Given the description of an element on the screen output the (x, y) to click on. 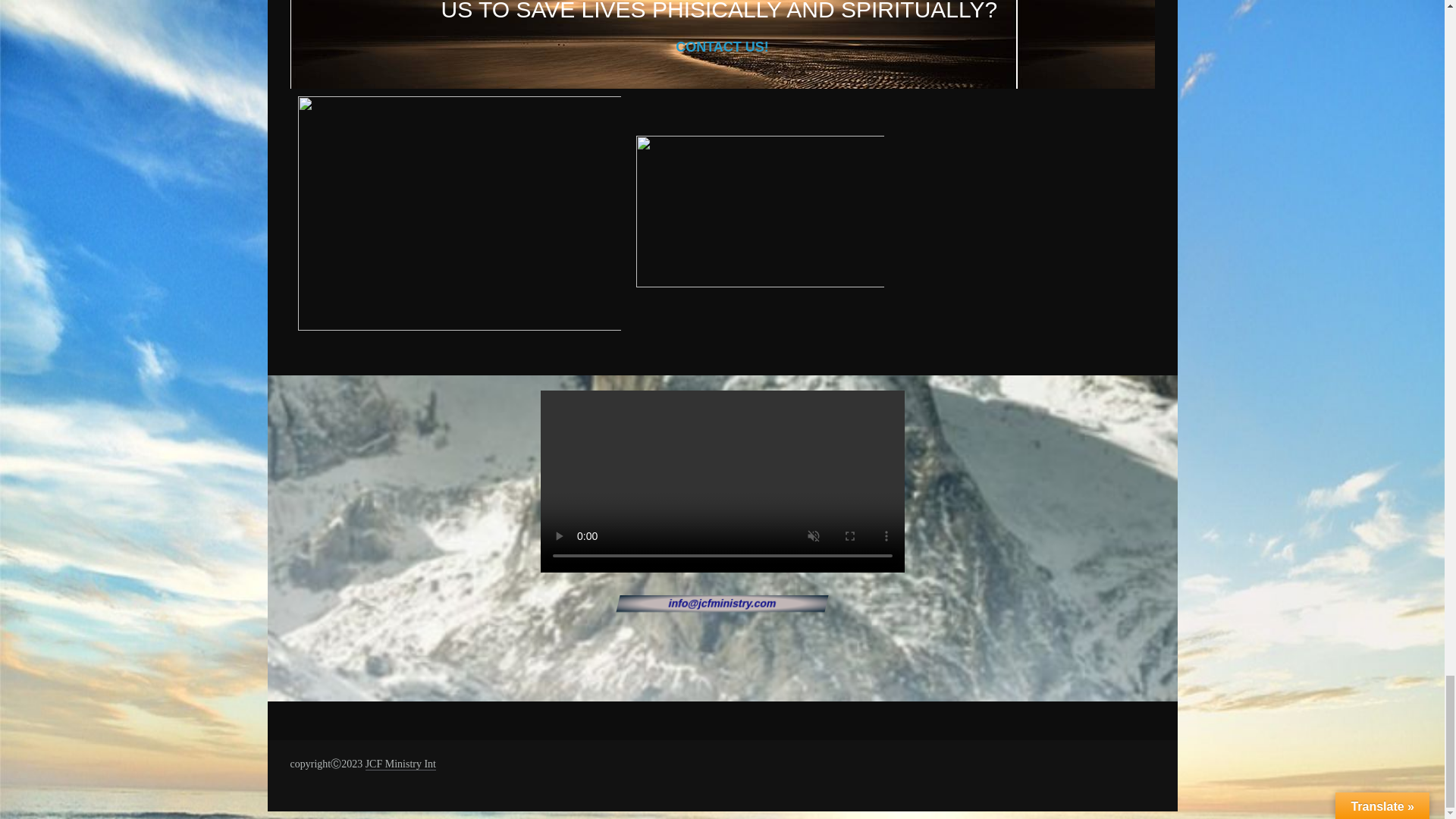
CONTACT US! (721, 46)
JCF Ministry Int (400, 764)
